Given the description of an element on the screen output the (x, y) to click on. 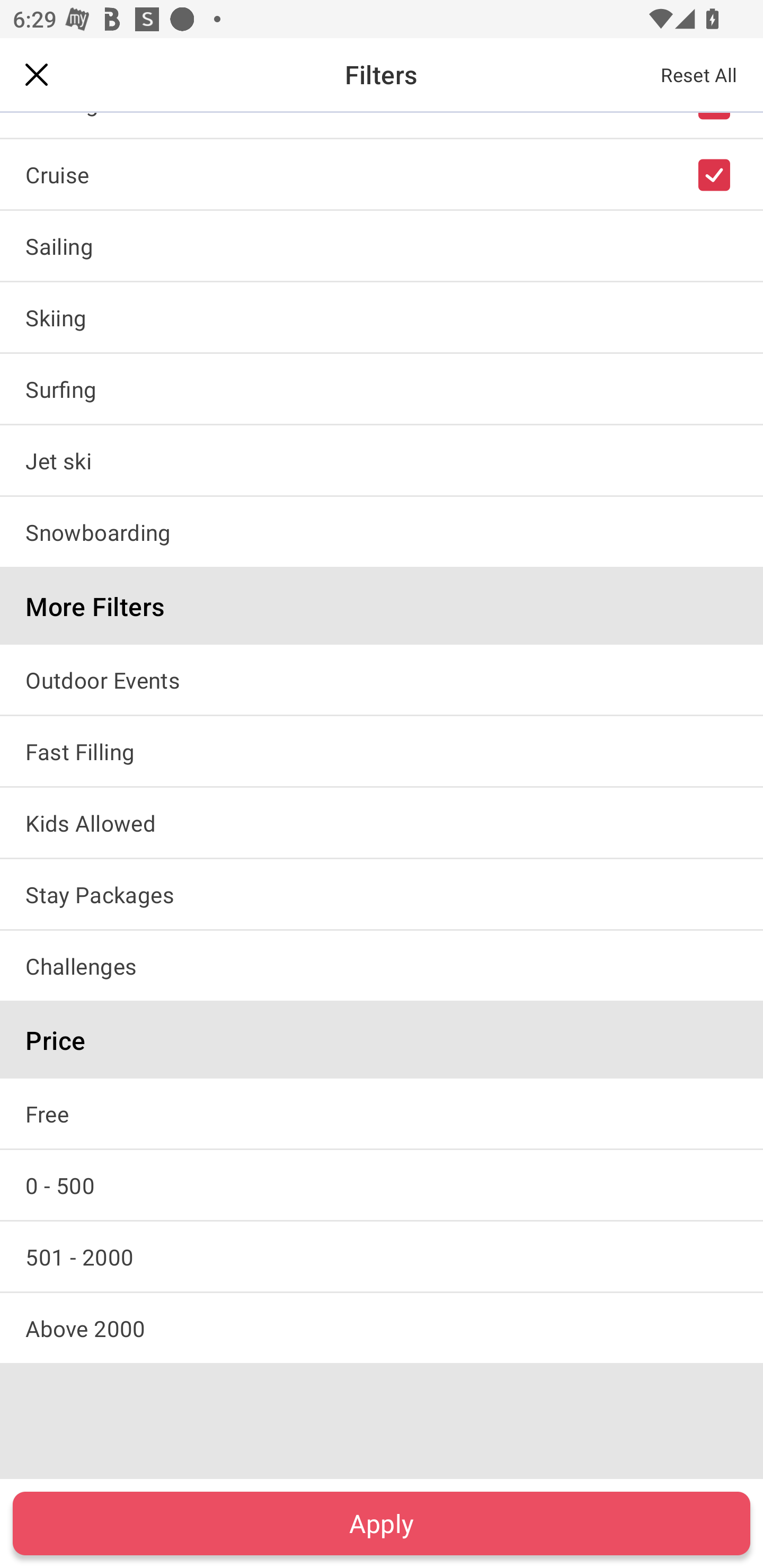
Close (36, 74)
Reset All (699, 74)
Cruise  (381, 173)
Sailing (381, 245)
Skiing (381, 317)
Surfing (381, 388)
Jet ski (381, 459)
Snowboarding (381, 531)
Outdoor Events (381, 679)
Fast Filling (381, 750)
Kids Allowed (381, 822)
Stay Packages (381, 894)
Challenges (381, 965)
Free (381, 1112)
0 - 500 (381, 1184)
501 - 2000 (381, 1256)
Above 2000 (381, 1327)
Apply (381, 1523)
